Given the description of an element on the screen output the (x, y) to click on. 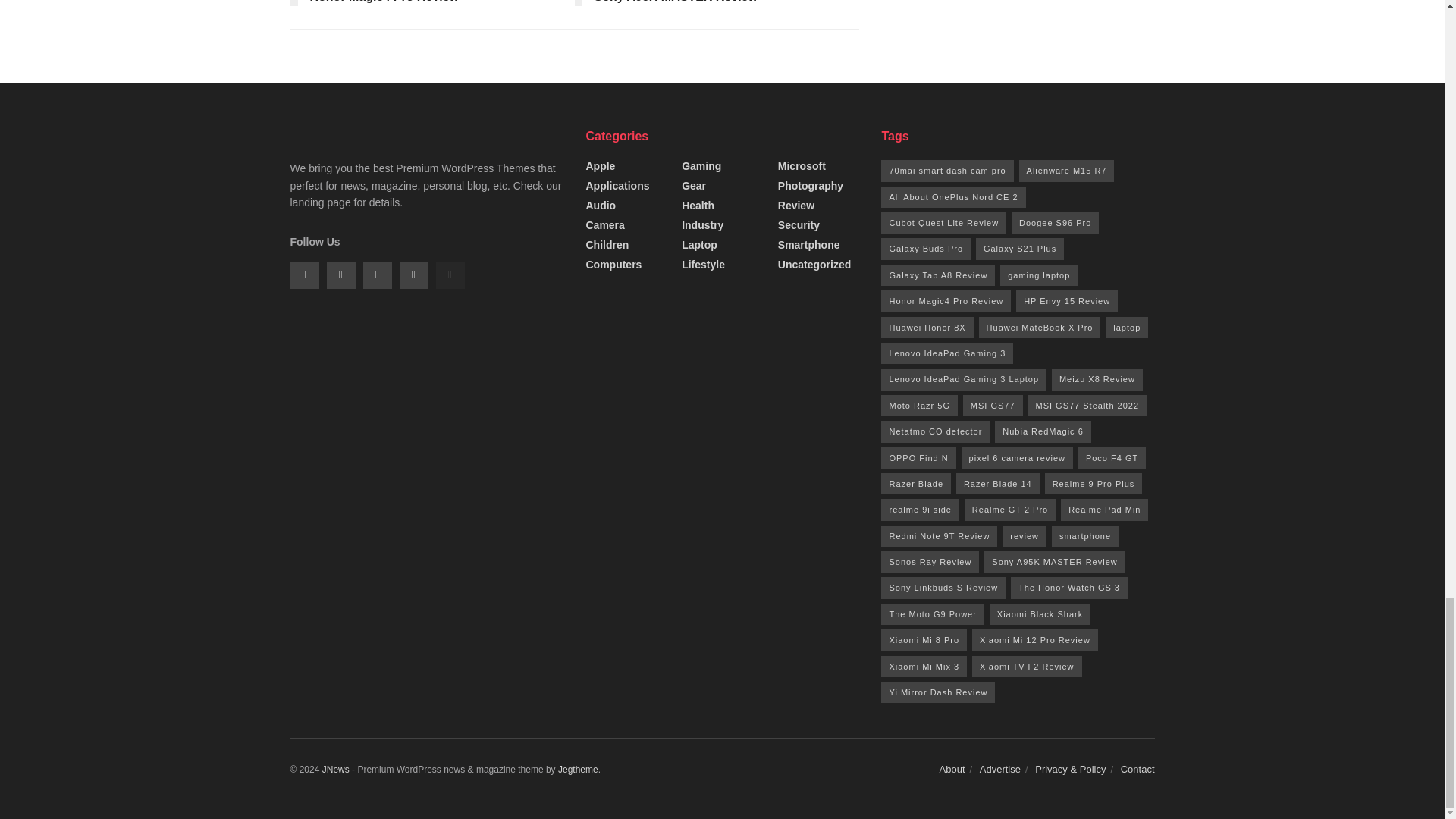
Jegtheme (577, 769)
